Given the description of an element on the screen output the (x, y) to click on. 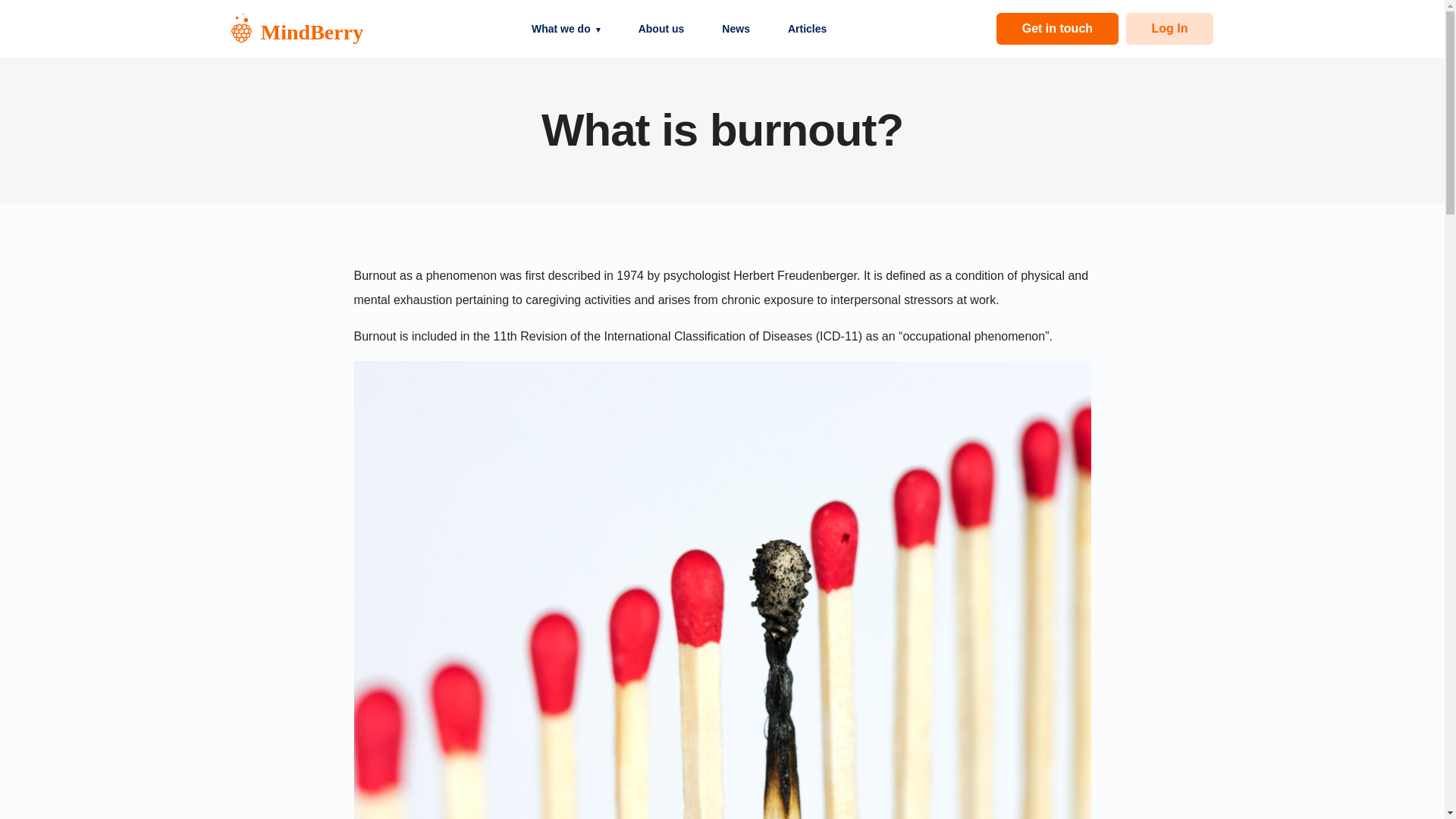
Articles (807, 28)
What we do (565, 28)
About us (661, 28)
Articles (807, 28)
Get in touch (1056, 29)
About us (661, 28)
What we do (565, 28)
Log In (1168, 29)
